Given the description of an element on the screen output the (x, y) to click on. 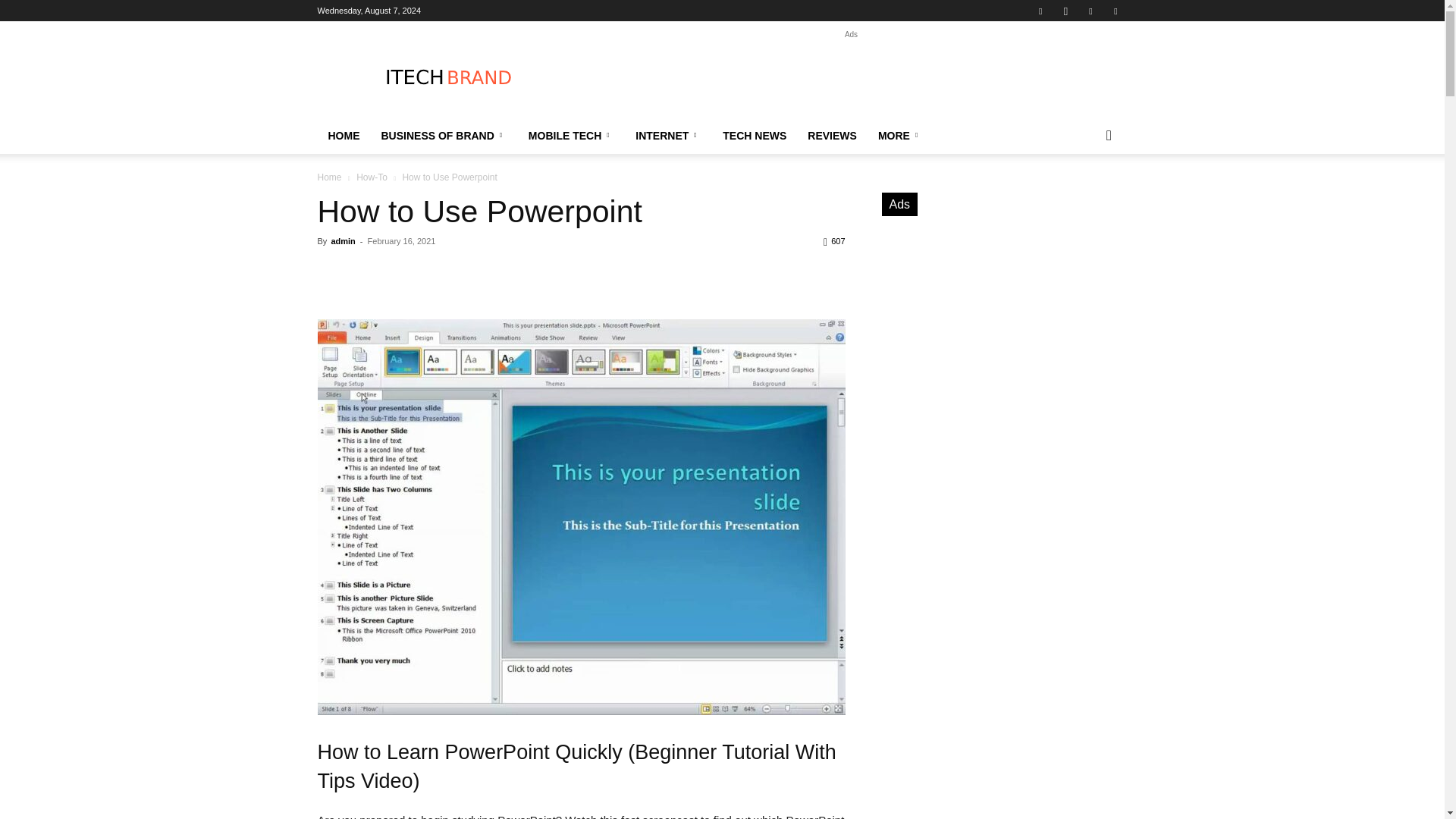
Pinterest (1090, 10)
View all posts in How-To (371, 176)
Instagram (1065, 10)
Twitter (1114, 10)
Facebook (1040, 10)
